Given the description of an element on the screen output the (x, y) to click on. 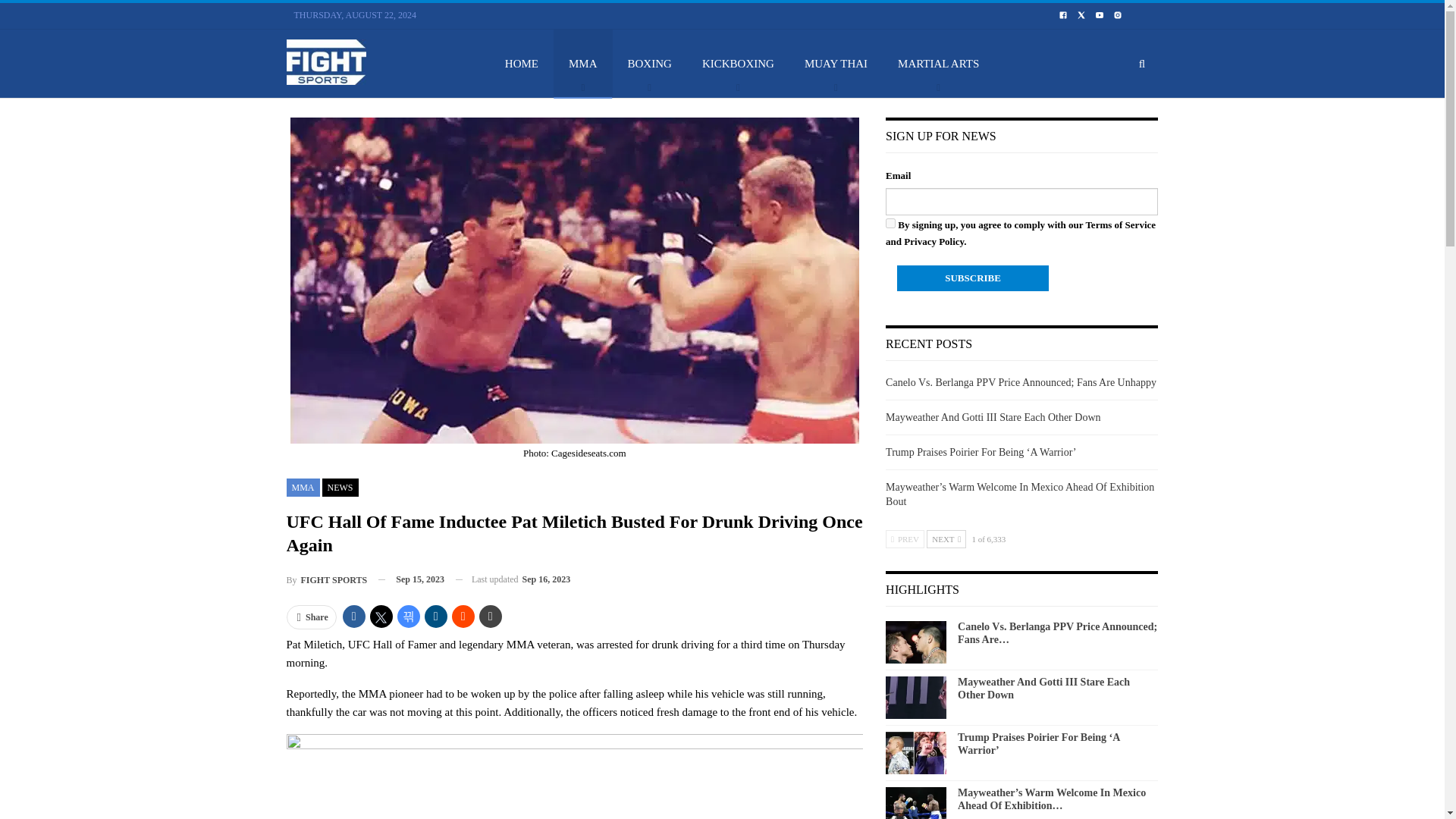
instagram (1117, 13)
Subscribe (972, 278)
twitter (1080, 13)
twitter (1081, 14)
youtube (1098, 14)
HOME (521, 63)
facebook (1062, 14)
BOXING (649, 63)
on (890, 223)
instagram (1117, 14)
